Given the description of an element on the screen output the (x, y) to click on. 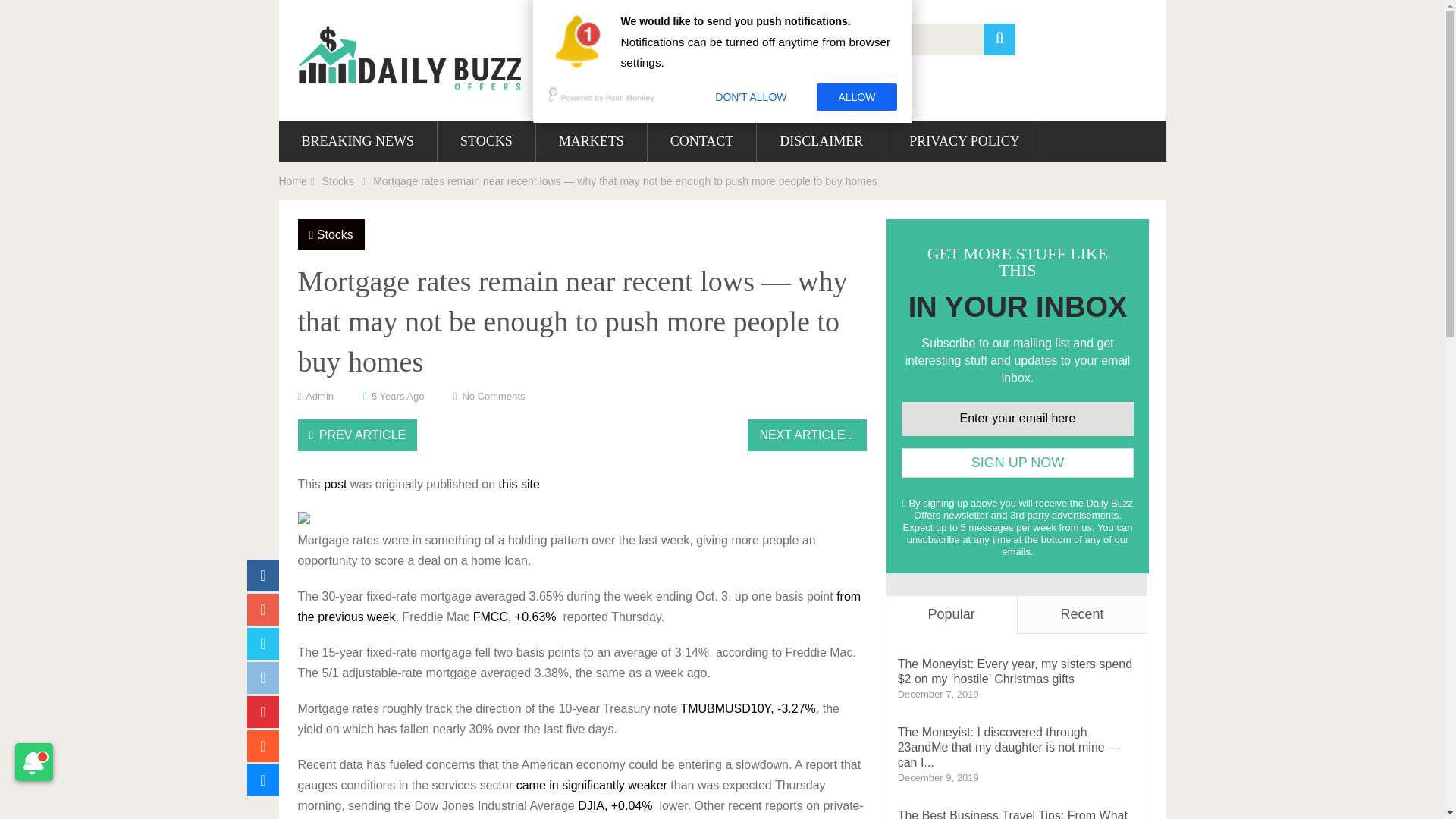
this site (519, 483)
Sign Up Now (1017, 462)
MARKETS (590, 140)
from the previous week (578, 606)
Posts by admin (319, 396)
View all posts in Stocks (335, 234)
Home (293, 181)
Stocks (337, 181)
post (334, 483)
PREV ARTICLE (356, 435)
